Given the description of an element on the screen output the (x, y) to click on. 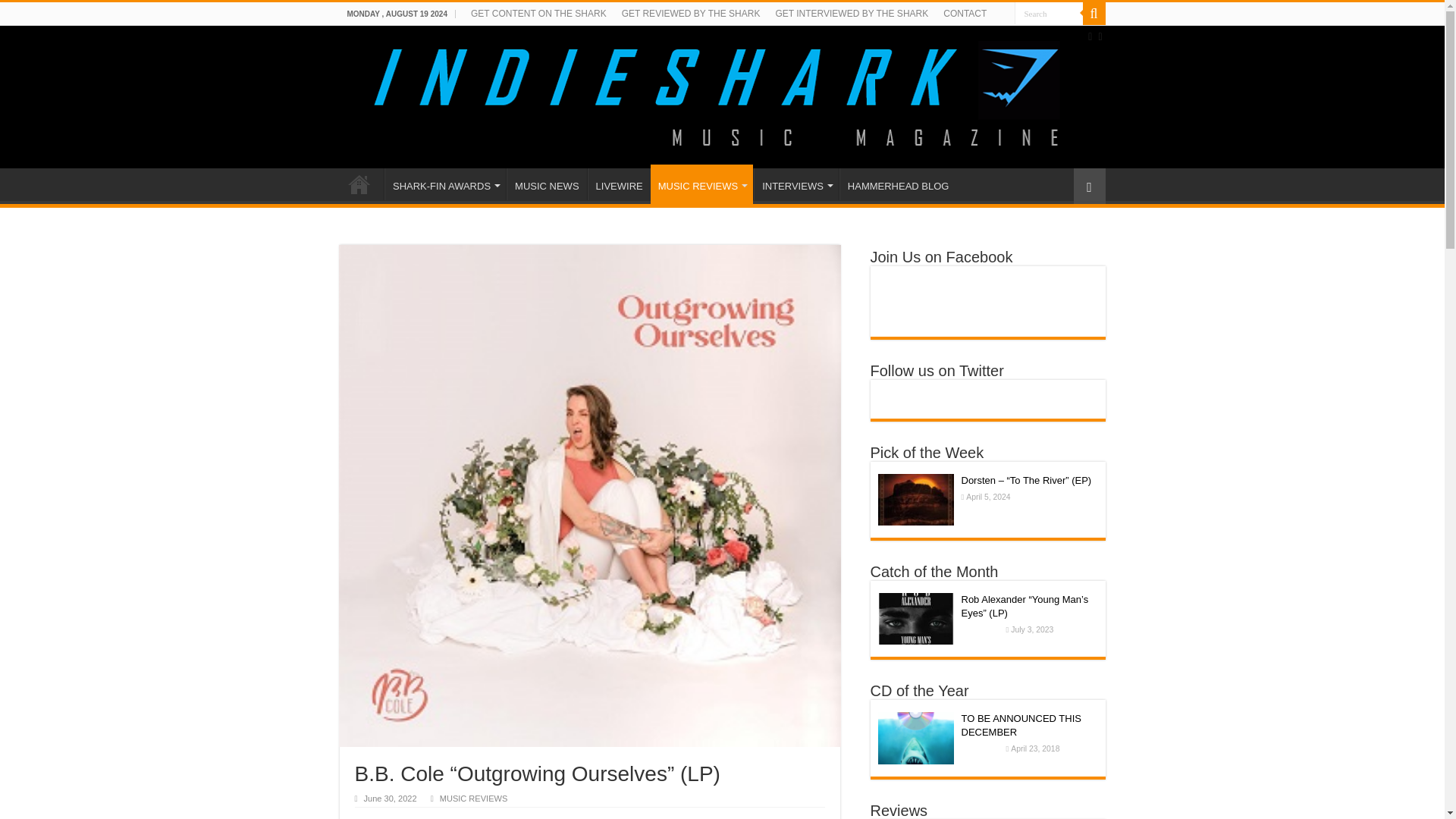
Home (358, 183)
GET REVIEWED BY THE SHARK (691, 13)
Search (1094, 13)
LIVEWIRE (619, 183)
Search (1048, 13)
GET INTERVIEWED BY THE SHARK (851, 13)
HAMMERHEAD BLOG (898, 183)
MUSIC NEWS (546, 183)
SHARK-FIN AWARDS (444, 183)
fb:page Facebook Social Plugin (988, 299)
